Given the description of an element on the screen output the (x, y) to click on. 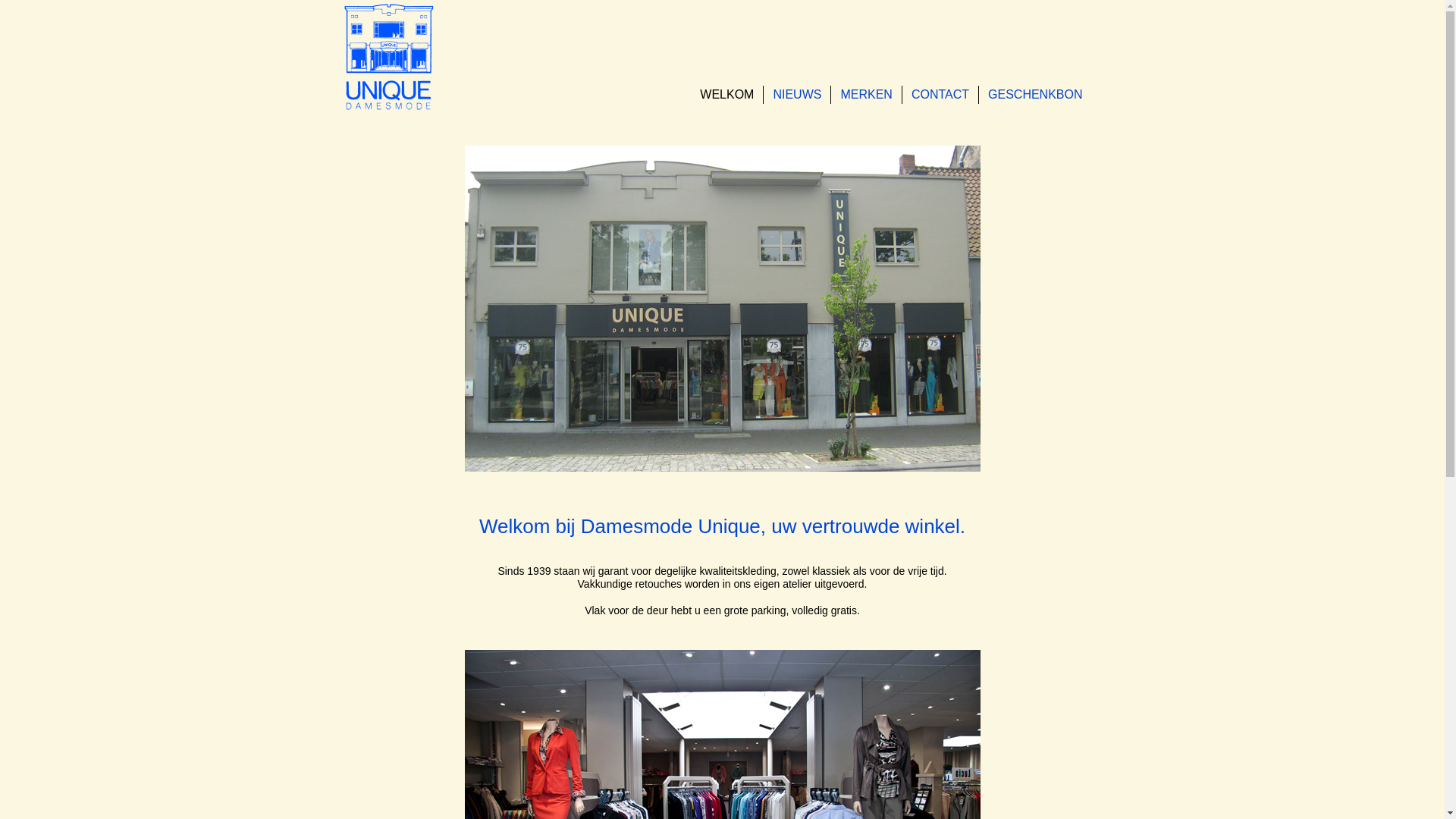
CONTACT Element type: text (940, 94)
WELKOM Element type: text (726, 94)
GESCHENKBON Element type: text (1035, 94)
MERKEN Element type: text (865, 94)
NIEUWS Element type: text (796, 94)
